Given the description of an element on the screen output the (x, y) to click on. 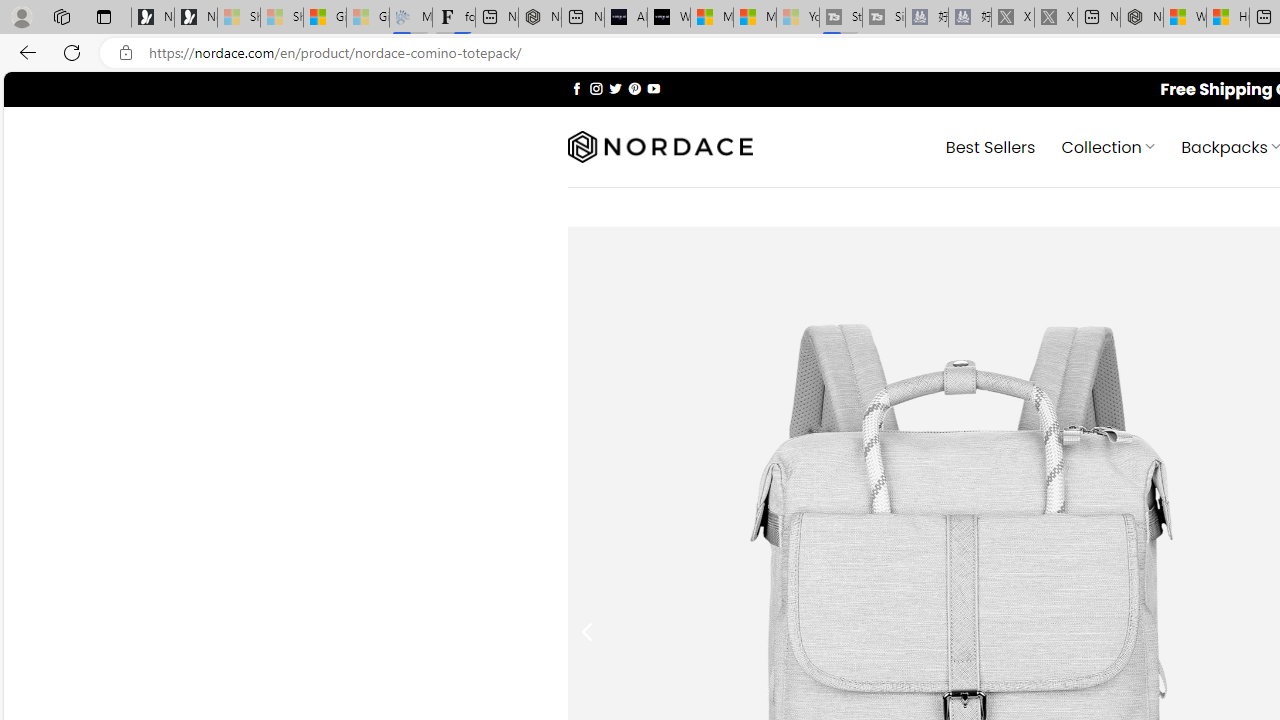
Follow on Pinterest (634, 88)
Wildlife - MSN (1184, 17)
X - Sleeping (1055, 17)
Streaming Coverage | T3 - Sleeping (840, 17)
Nordace - #1 Japanese Best-Seller - Siena Smart Backpack (539, 17)
Nordace - My Account (1142, 17)
Huge shark washes ashore at New York City beach | Watch (1228, 17)
